Given the description of an element on the screen output the (x, y) to click on. 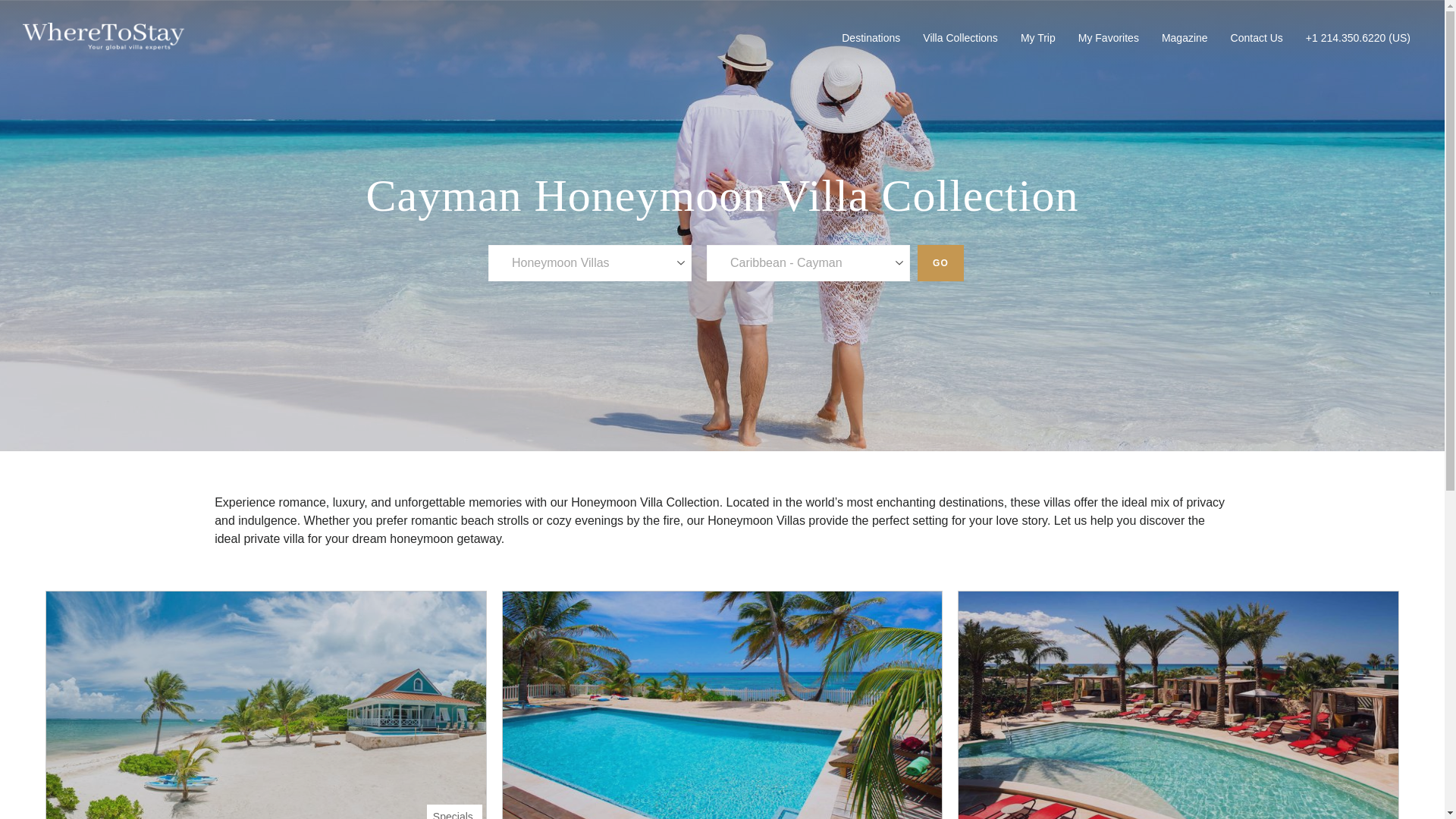
My Favorites (1108, 37)
My Trip (1038, 37)
Lone Palm on Cayman (265, 704)
Magazine (1185, 37)
Contact Us (1257, 37)
The Residences at Seafire 3 Bedroom South on Cayman (1178, 704)
Babylon Reef on Cayman (722, 704)
Villa Collections (960, 37)
Destinations (870, 37)
